Given the description of an element on the screen output the (x, y) to click on. 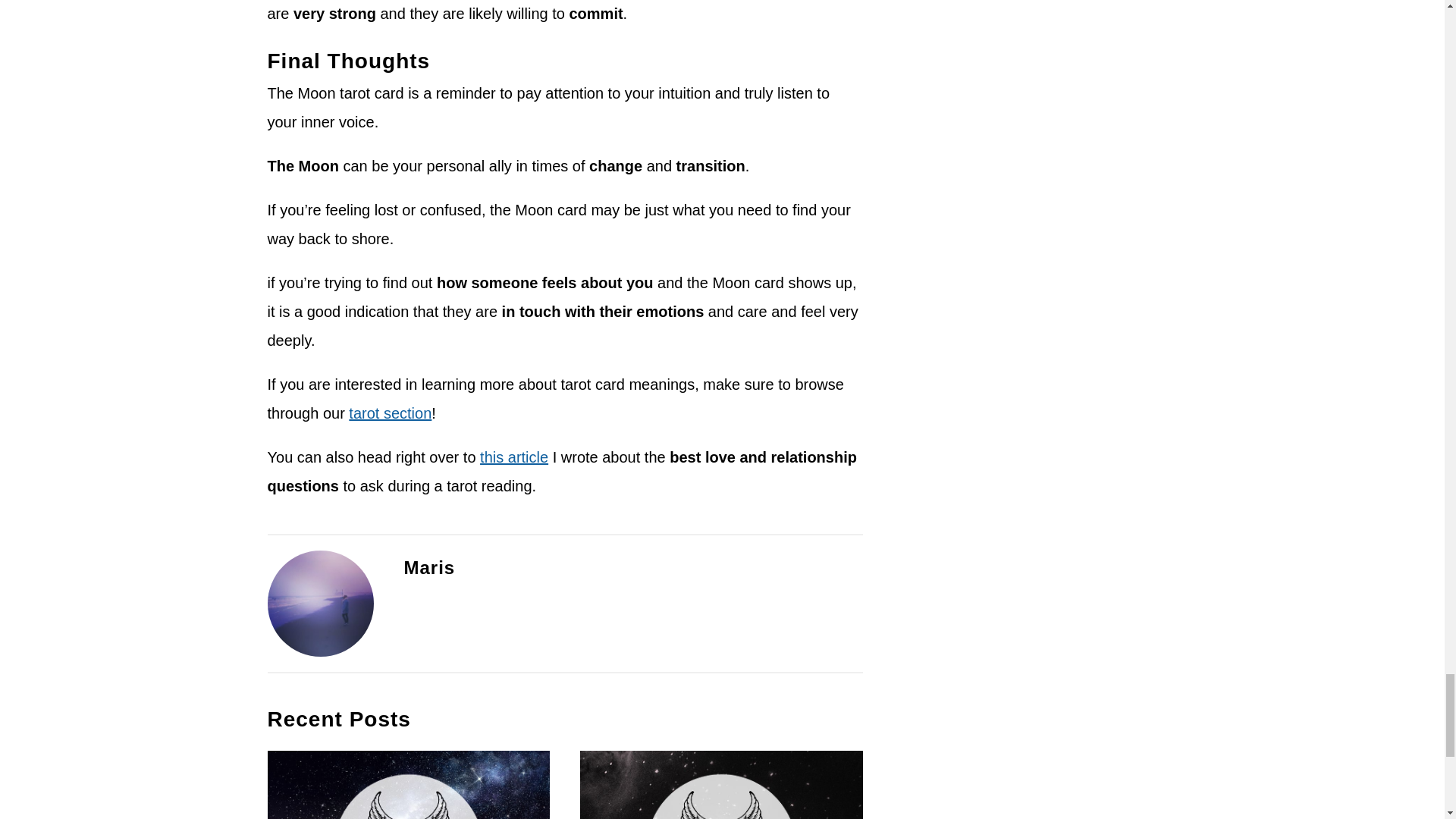
Maris (428, 567)
link to 11 Reasons Why You Keep Seeing Number 444 (408, 785)
tarot section (389, 412)
link to 11 Reasons Why You Keep Seeing Angel Number 1111 (721, 785)
this article (514, 457)
